Given the description of an element on the screen output the (x, y) to click on. 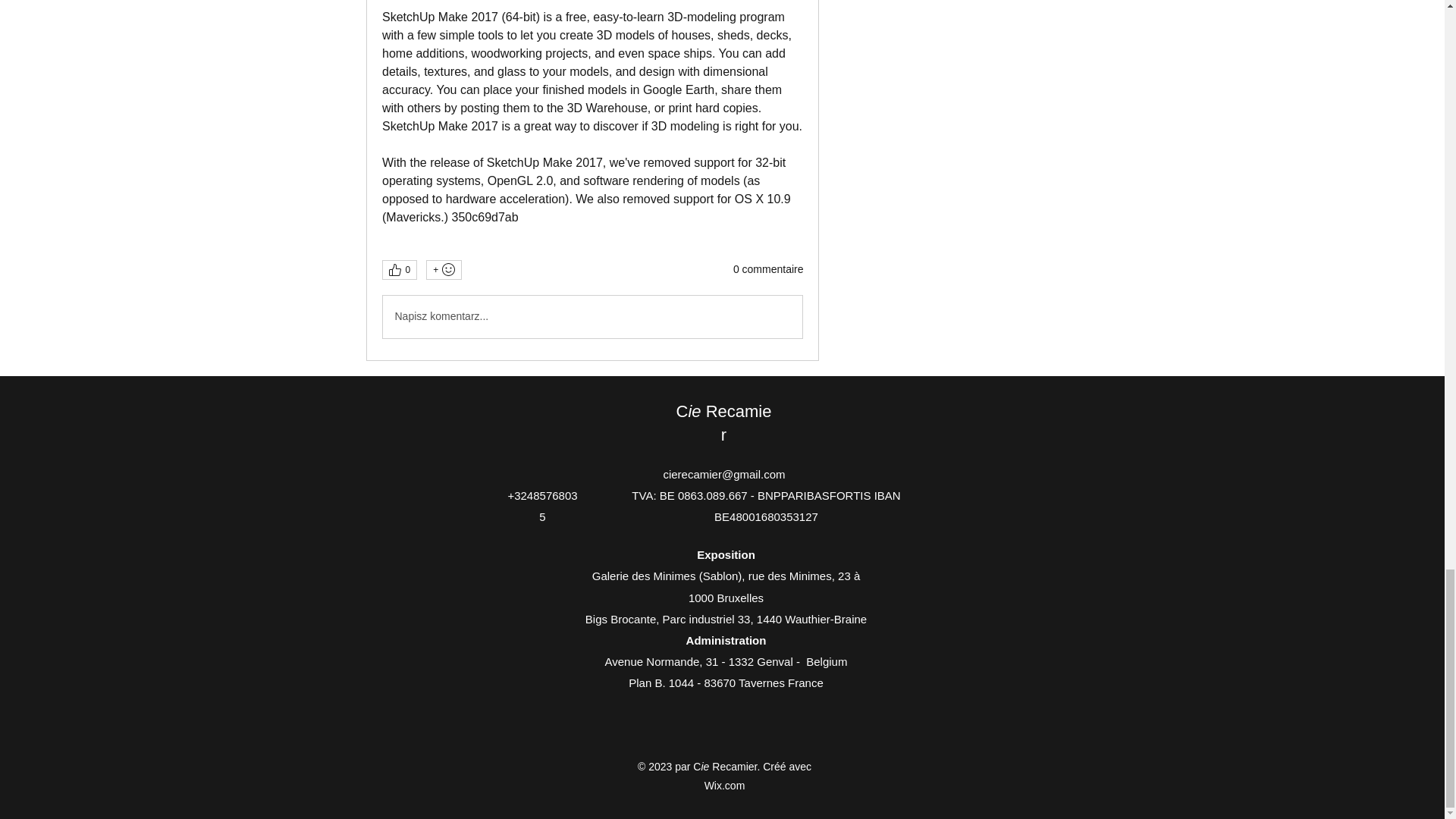
Cie Recamier (724, 423)
Napisz komentarz... (591, 316)
0 commentaire (768, 269)
